Given the description of an element on the screen output the (x, y) to click on. 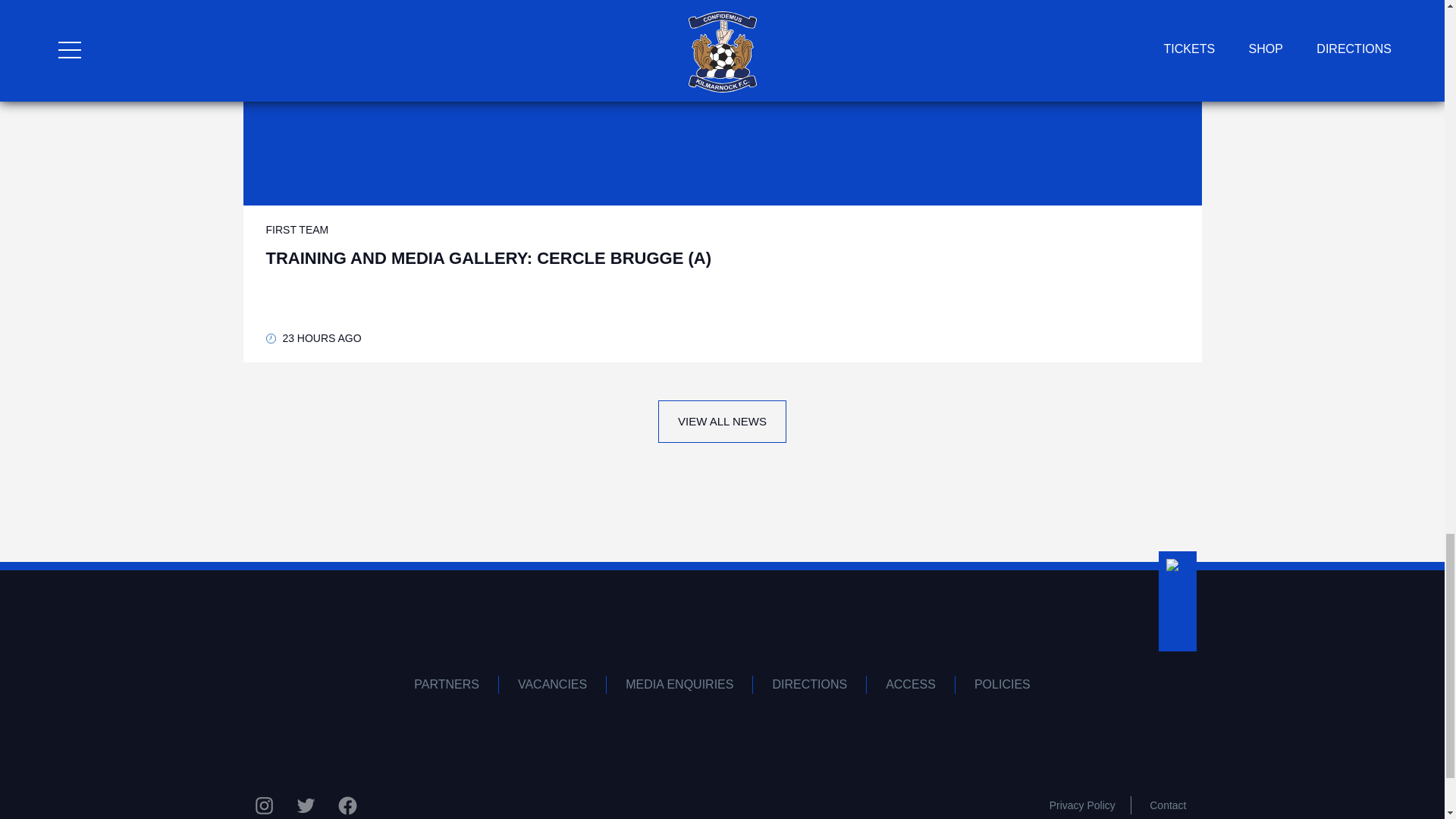
DIRECTIONS (809, 684)
POLICIES (1002, 684)
VACANCIES (553, 684)
Privacy Policy (1082, 805)
MEDIA ENQUIRIES (679, 684)
ACCESS (910, 684)
PARTNERS (446, 684)
Contact (1167, 805)
VIEW ALL NEWS (722, 421)
